Given the description of an element on the screen output the (x, y) to click on. 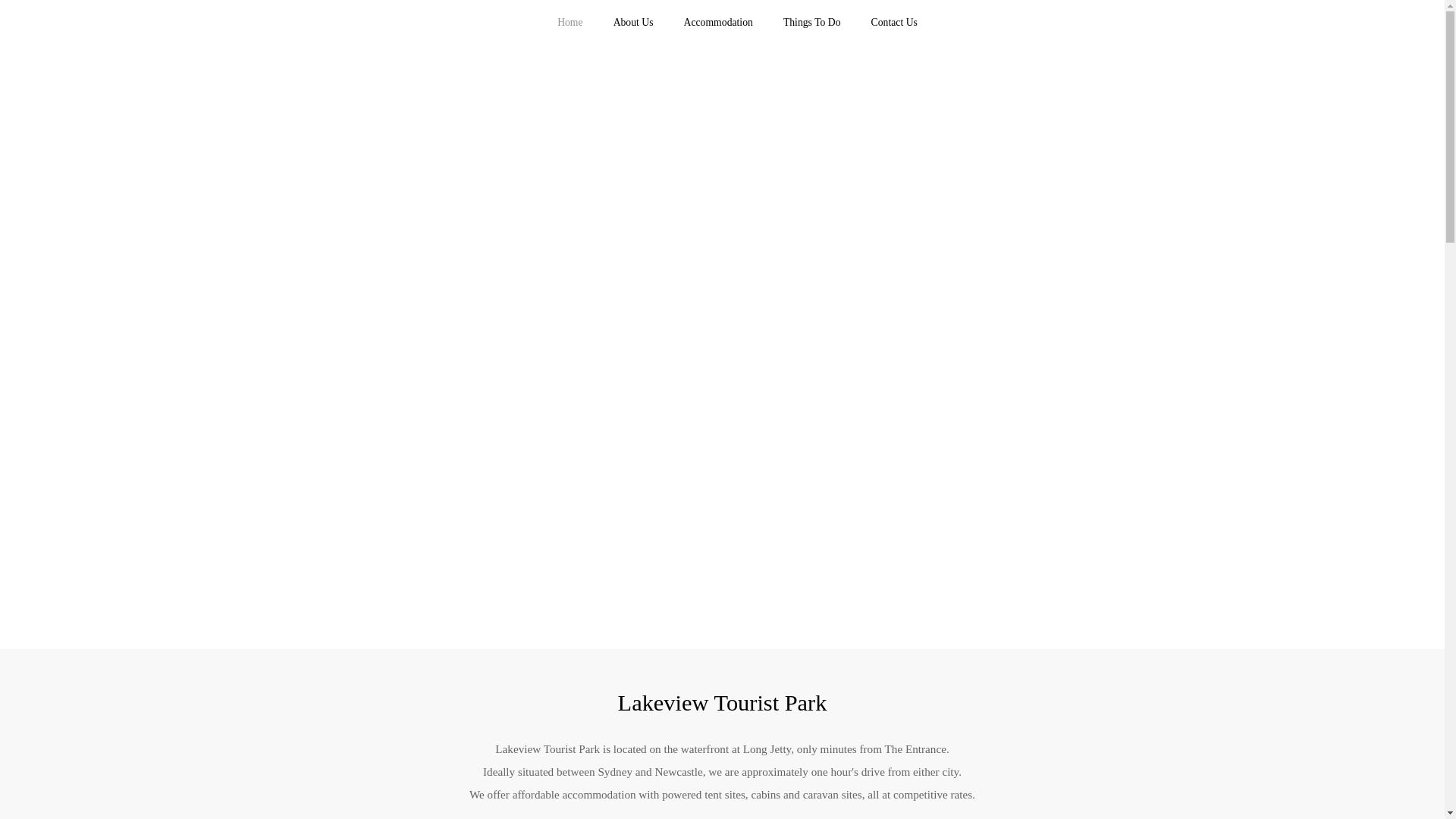
Contact Us (893, 22)
Accommodation (718, 22)
About Us (632, 22)
Things To Do (812, 22)
Home (570, 22)
